Given the description of an element on the screen output the (x, y) to click on. 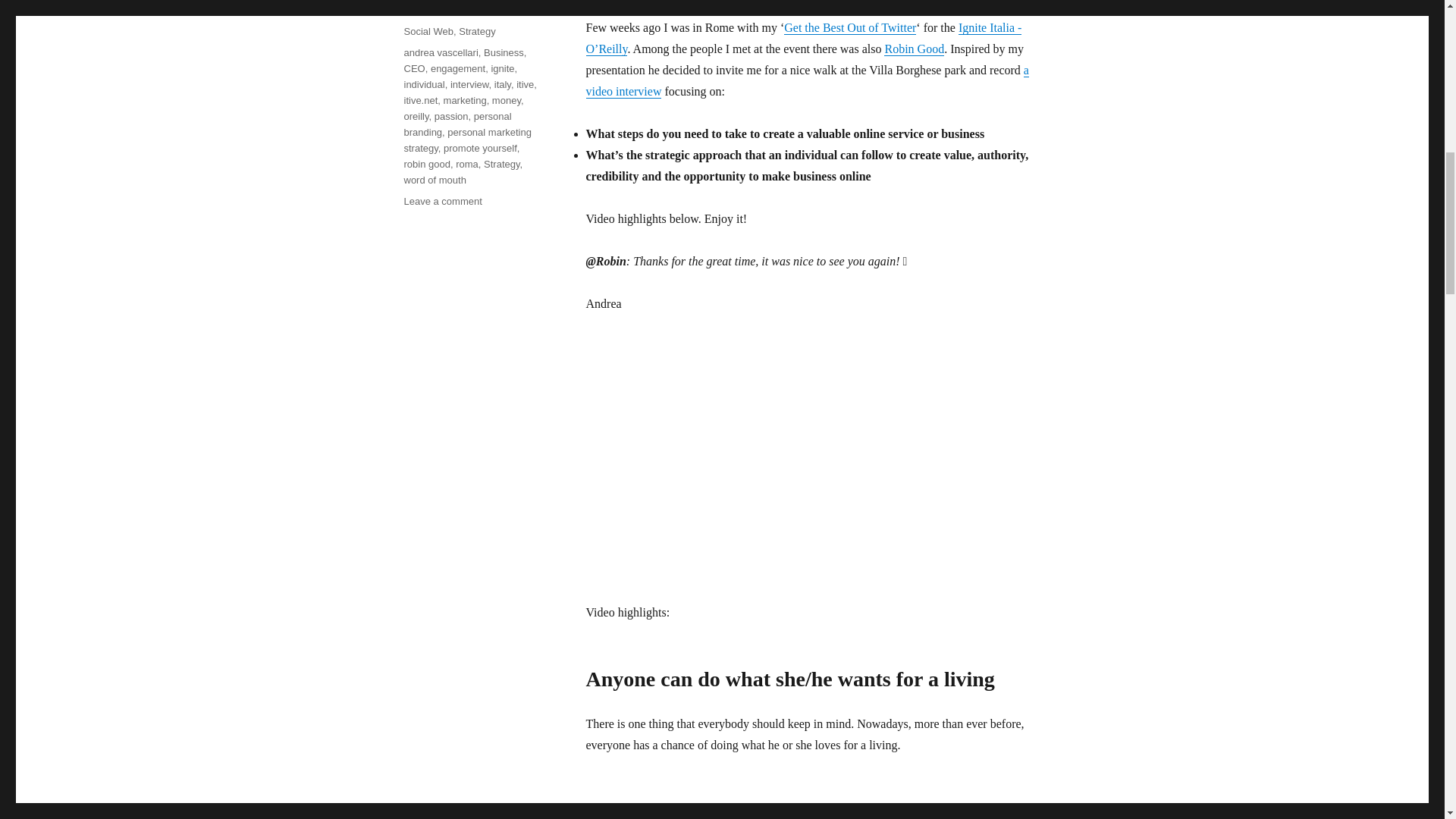
Strategy (476, 30)
oreilly (415, 116)
itive (525, 84)
Social Web (427, 30)
Get the Best Out of Twitter (849, 27)
individual (423, 84)
personal branding (457, 124)
CEO (414, 68)
itive.net (420, 100)
Robin Good (913, 48)
